Given the description of an element on the screen output the (x, y) to click on. 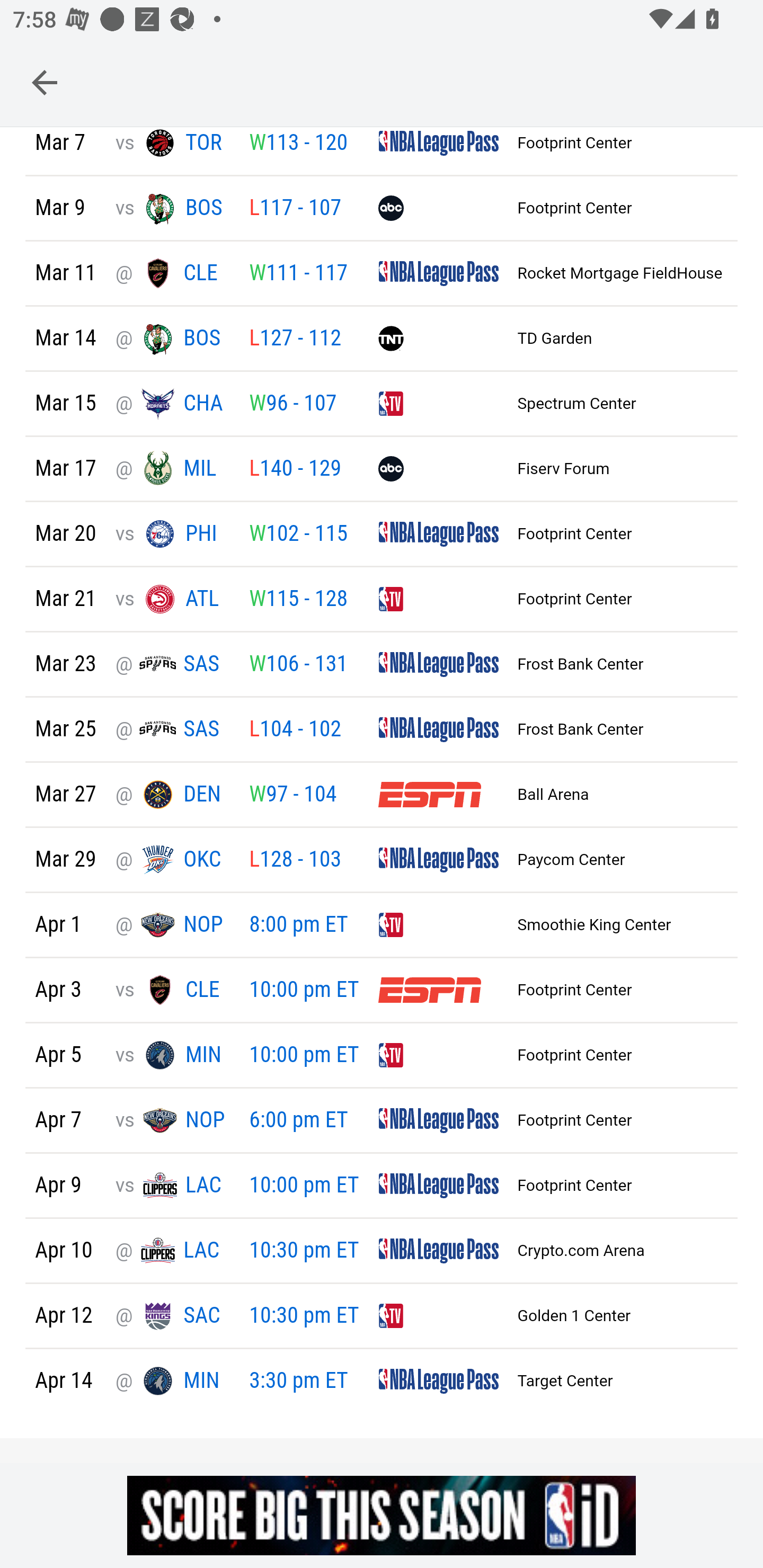
Navigate up (44, 82)
vs TOR Logo TOR vs TOR Logo TOR (172, 145)
W113 - 120 W 113 - 120 (297, 143)
vs BOS Logo BOS vs BOS Logo BOS (172, 208)
L117 - 107 L 117 - 107 (294, 209)
@ CLE Logo CLE @ CLE Logo CLE (172, 274)
W111 - 117 W 111 - 117 (297, 273)
@ BOS Logo BOS @ BOS Logo BOS (172, 339)
L127 - 112 L 127 - 112 (294, 339)
@ CHA Logo CHA @ CHA Logo CHA (172, 404)
W96 - 107 W 96 - 107 (292, 404)
@ MIL Logo MIL @ MIL Logo MIL (172, 469)
L140 - 129 L 140 - 129 (294, 469)
vs PHI Logo PHI vs PHI Logo PHI (172, 534)
W102 - 115 W 102 - 115 (297, 534)
vs ATL Logo ATL vs ATL Logo ATL (172, 599)
W115 - 128 W 115 - 128 (297, 599)
@ SAS Logo SAS @ SAS Logo SAS (172, 664)
W106 - 131 W 106 - 131 (297, 665)
@ SAS Logo SAS @ SAS Logo SAS (172, 729)
L104 - 102 L 104 - 102 (294, 729)
@ DEN Logo DEN @ DEN Logo DEN (172, 795)
W97 - 104 W 97 - 104 (292, 795)
@ OKC Logo OKC @ OKC Logo OKC (172, 859)
L128 - 103 L 128 - 103 (294, 859)
@ NOP Logo NOP @ NOP Logo NOP (172, 925)
8:00 pm ET (297, 925)
vs CLE Logo CLE vs CLE Logo CLE (172, 990)
10:00 pm ET (303, 990)
vs MIN Logo MIN vs MIN Logo MIN (172, 1055)
10:00 pm ET (303, 1055)
vs NOP Logo NOP vs NOP Logo NOP (172, 1120)
6:00 pm ET (297, 1121)
vs LAC Logo LAC vs LAC Logo LAC (172, 1185)
10:00 pm ET (303, 1185)
@ LAC Logo LAC @ LAC Logo LAC (172, 1250)
10:30 pm ET (303, 1251)
@ SAC Logo SAC @ SAC Logo SAC (172, 1315)
10:30 pm ET (303, 1316)
@ MIN Logo MIN @ MIN Logo MIN (172, 1381)
3:30 pm ET (297, 1381)
g5nqqygr7owph (381, 1515)
